Given the description of an element on the screen output the (x, y) to click on. 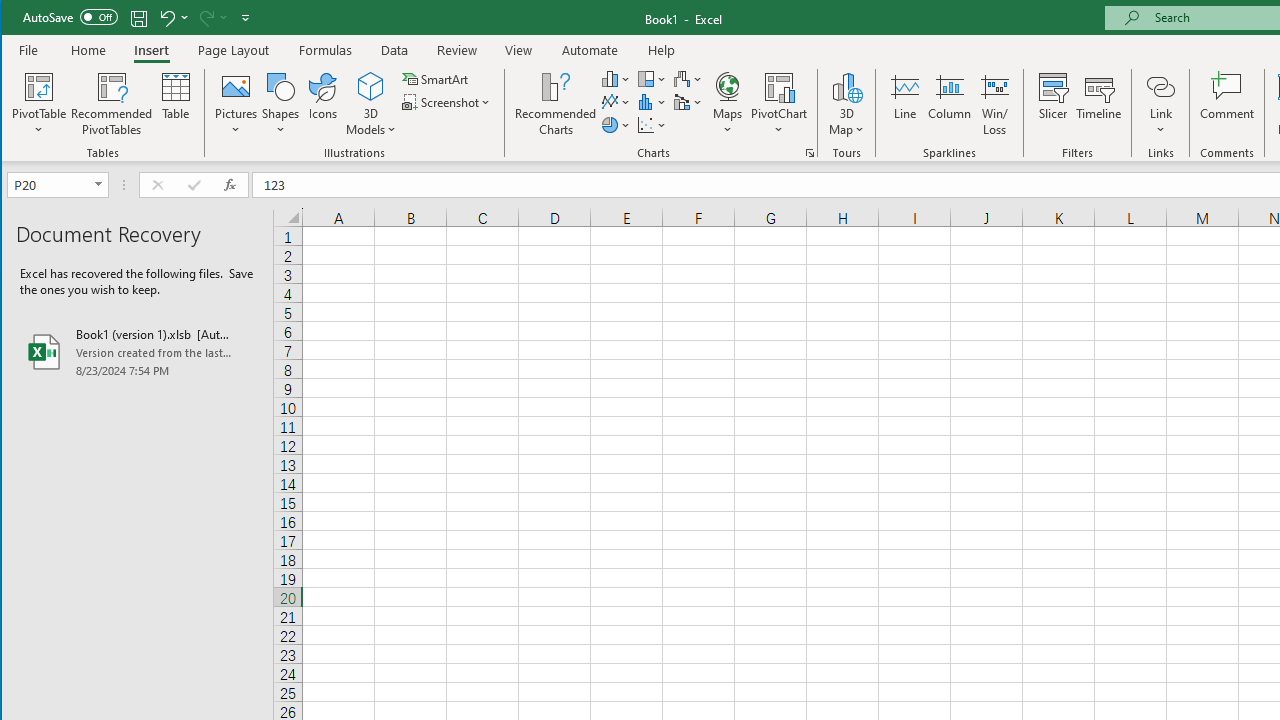
Pictures (235, 104)
Insert Waterfall, Funnel, Stock, Surface, or Radar Chart (688, 78)
SmartArt... (436, 78)
Icons (323, 104)
3D Models (371, 104)
Column (949, 104)
Recommended Charts (809, 152)
Insert Column or Bar Chart (616, 78)
